Given the description of an element on the screen output the (x, y) to click on. 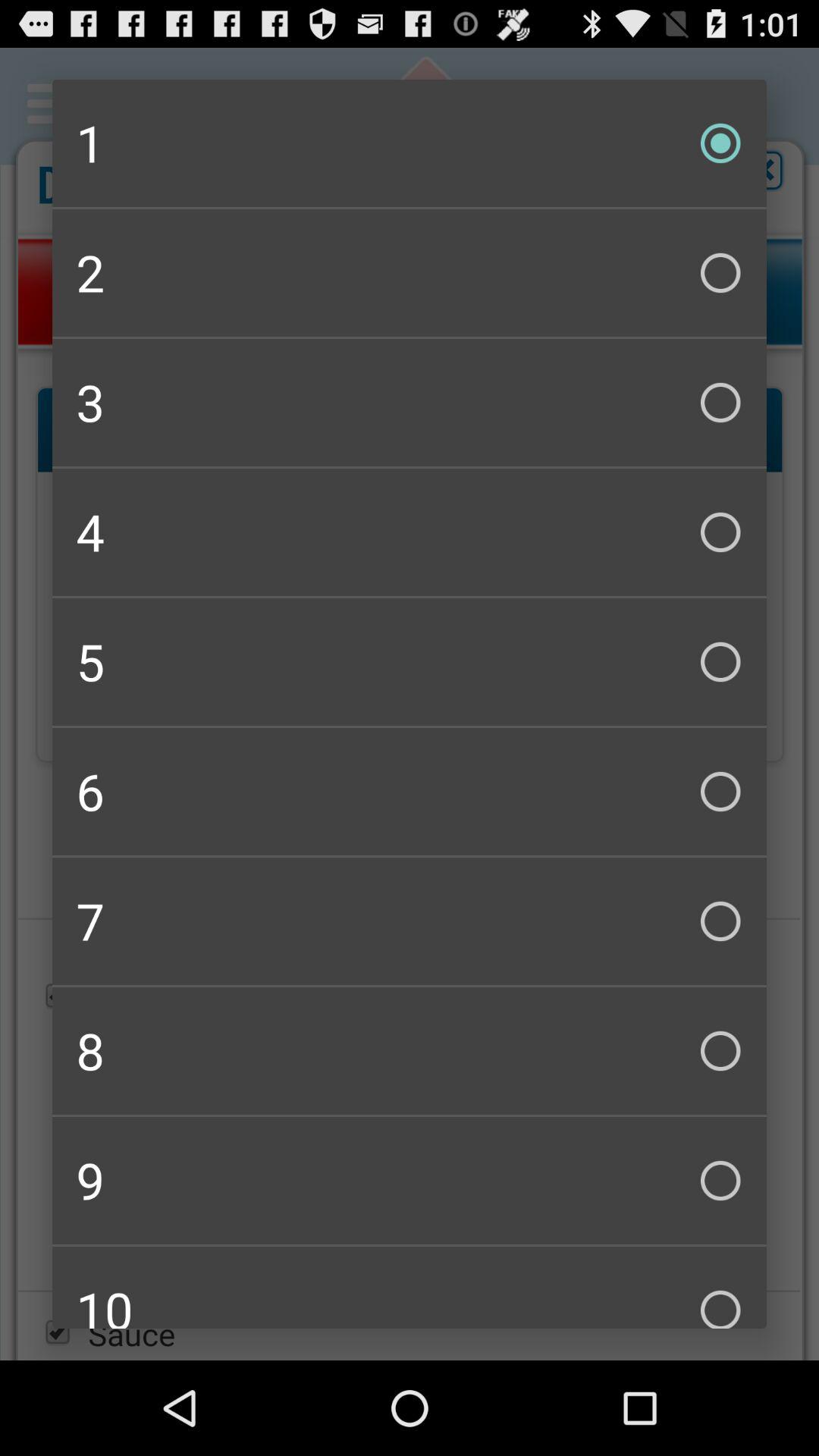
flip until 4 checkbox (409, 532)
